Given the description of an element on the screen output the (x, y) to click on. 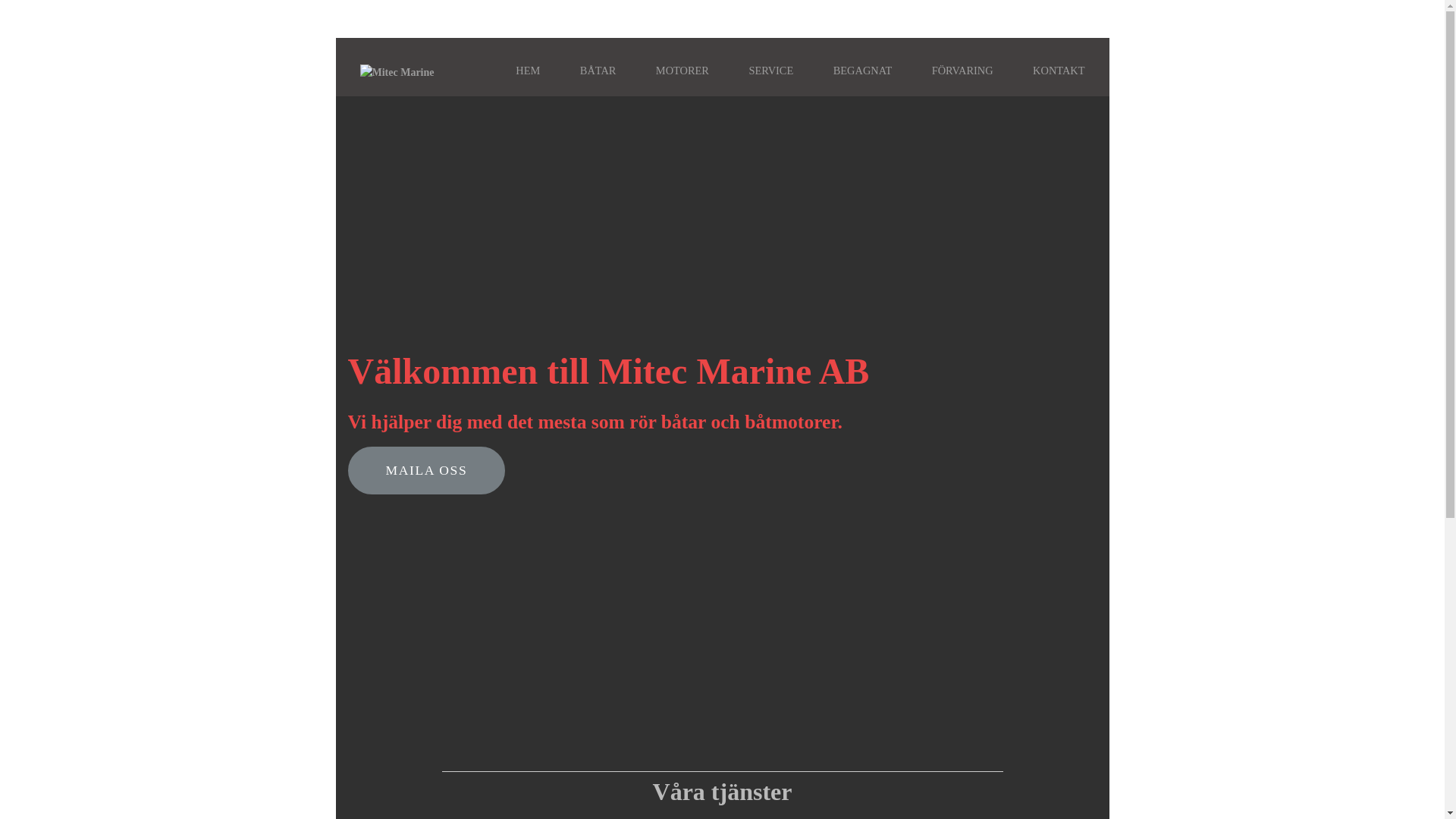
BEGAGNAT Element type: text (862, 70)
HEM Element type: text (527, 70)
SERVICE Element type: text (770, 70)
MOTORER Element type: text (682, 70)
KONTAKT Element type: text (1058, 70)
MAILA OSS Element type: text (426, 469)
